Given the description of an element on the screen output the (x, y) to click on. 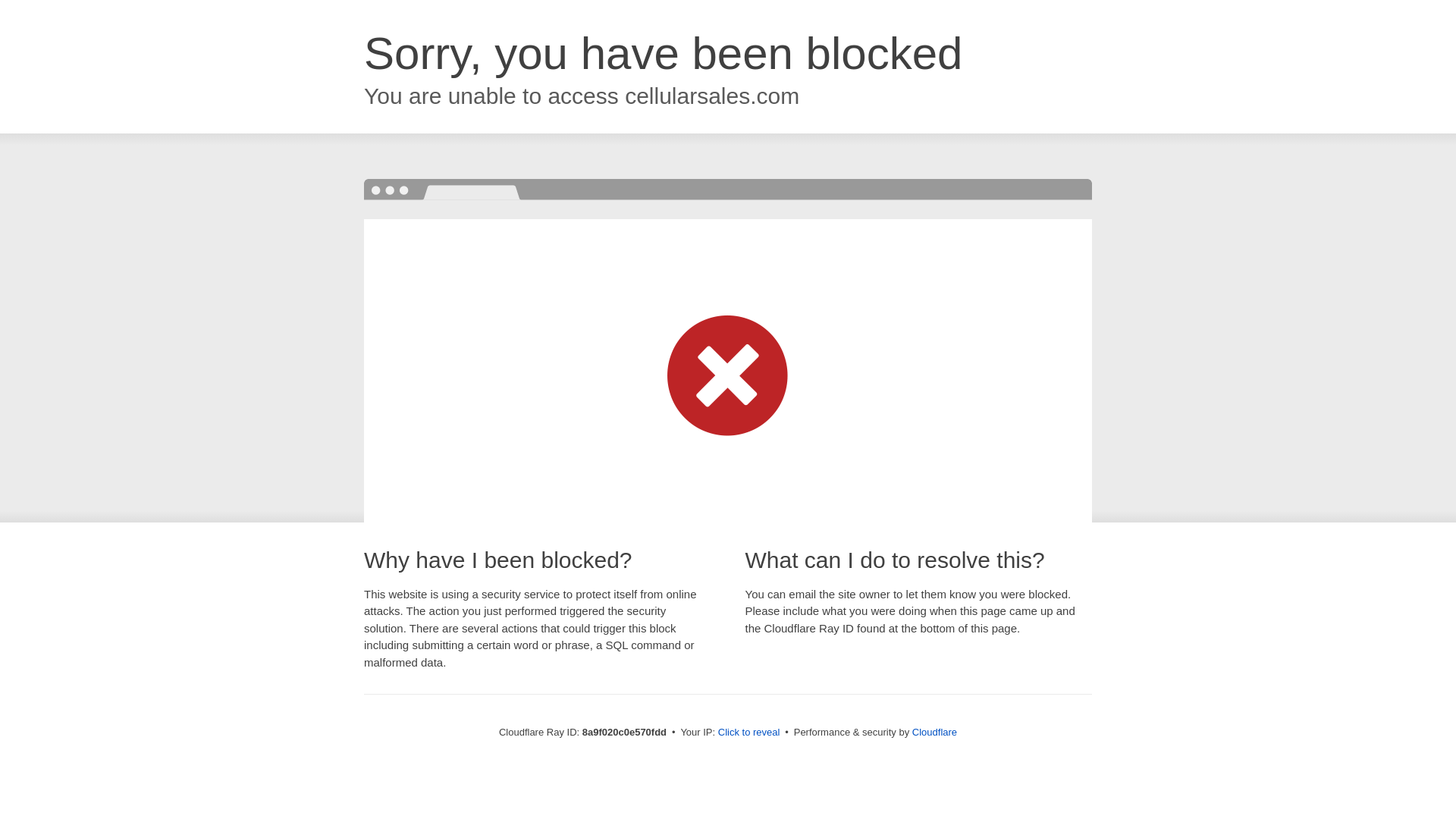
Cloudflare (934, 731)
Click to reveal (748, 732)
